Given the description of an element on the screen output the (x, y) to click on. 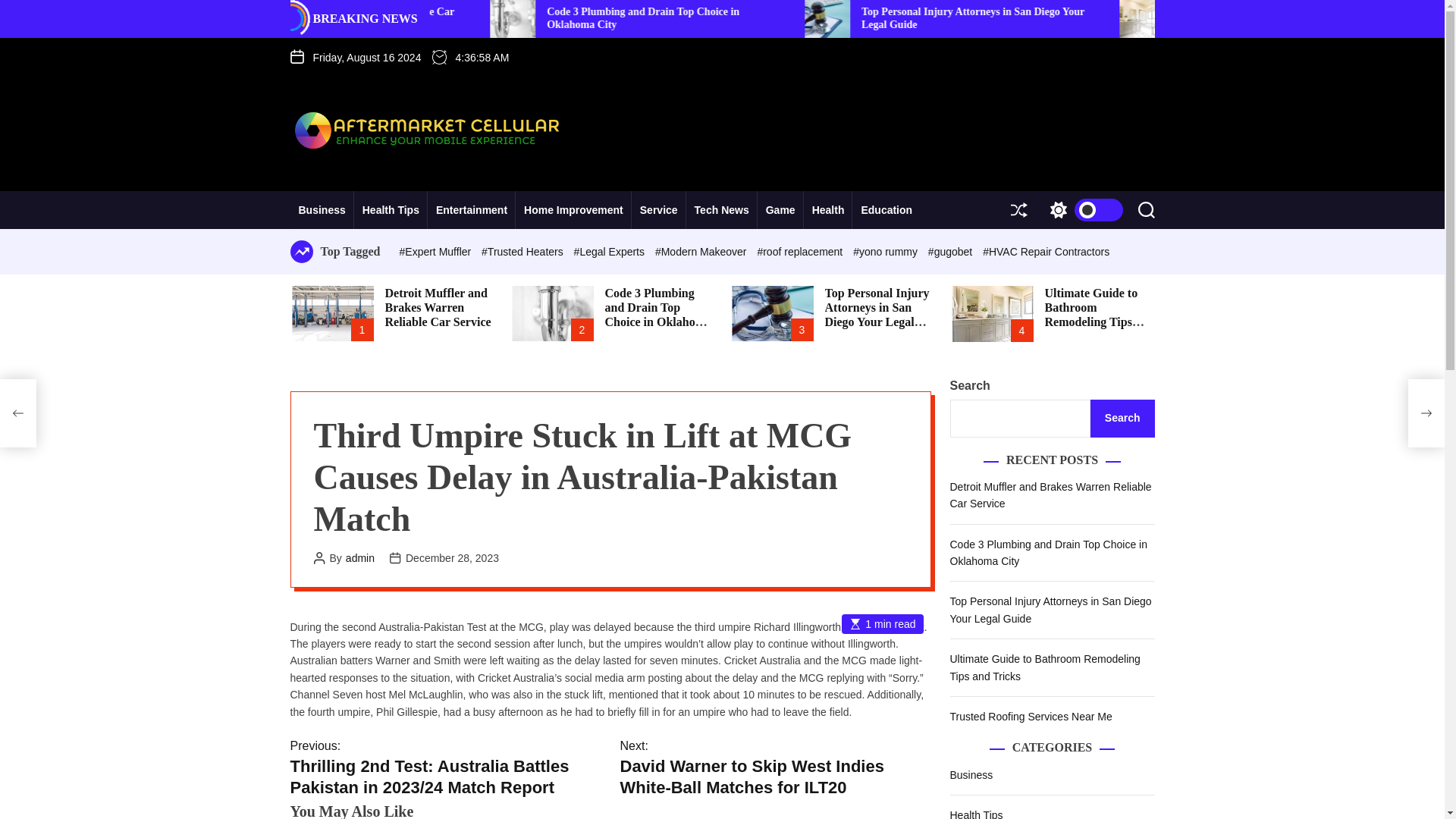
Business (321, 209)
Code 3 Plumbing and Drain Top Choice in Oklahoma City (896, 17)
Detroit Muffler and Brakes Warren Reliable Car Service (596, 17)
Top Personal Injury Attorneys in San Diego Your Legal Guide (1226, 17)
